Given the description of an element on the screen output the (x, y) to click on. 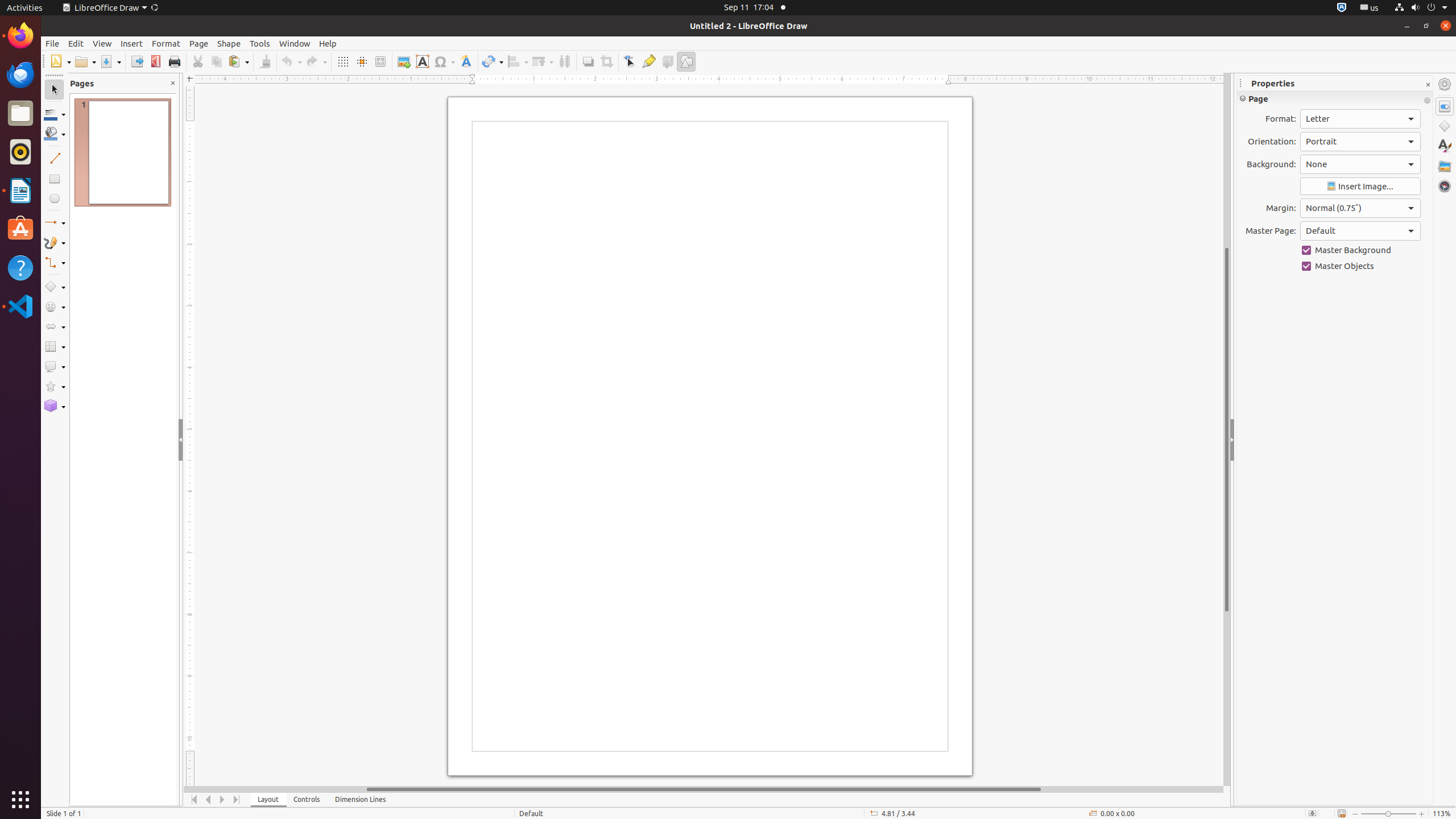
Lines and Arrows Element type: push-button (54, 222)
Edit Points Element type: push-button (629, 61)
Align Element type: push-button (517, 61)
Clone Element type: push-button (264, 61)
Shape Element type: menu (228, 43)
